Given the description of an element on the screen output the (x, y) to click on. 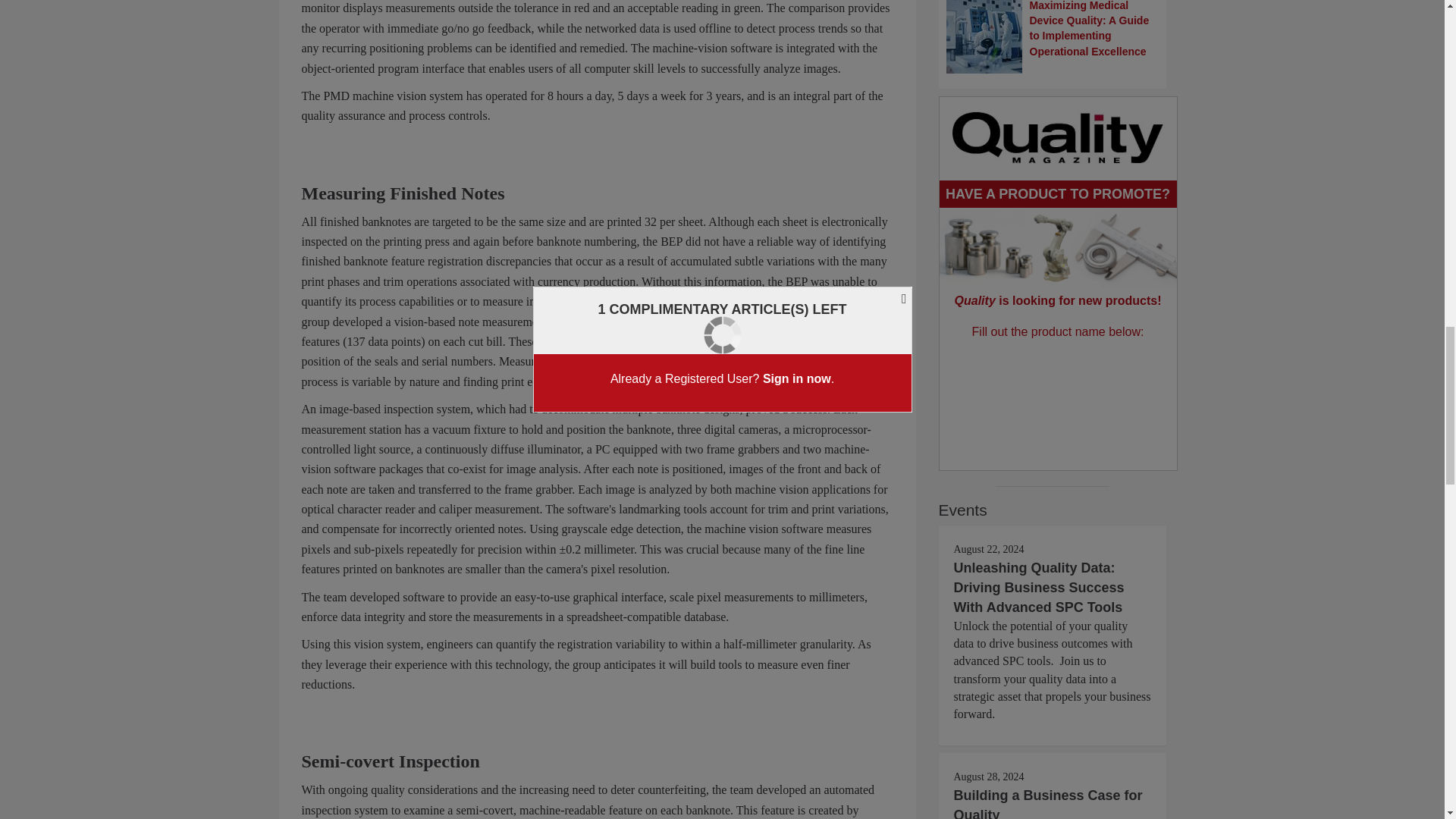
Building a Business Case for Quality (1047, 803)
Interaction questions (1058, 388)
